Given the description of an element on the screen output the (x, y) to click on. 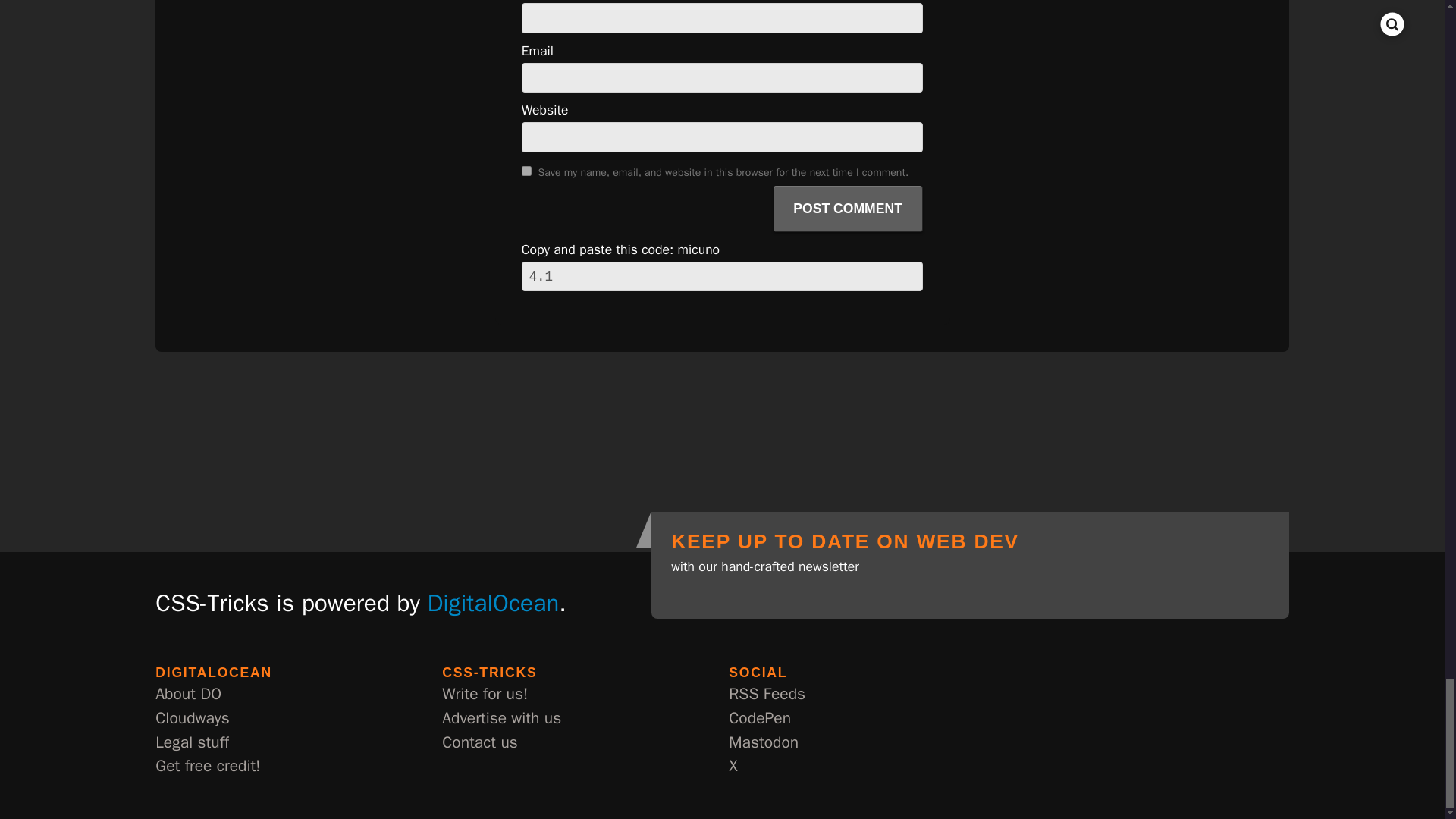
About DO (188, 694)
DigitalOcean (492, 603)
Legal stuff (191, 743)
Cloudways (191, 718)
4.1 (722, 276)
yes (526, 171)
Get free credit! (207, 766)
Post Comment (848, 208)
Post Comment (848, 208)
